Given the description of an element on the screen output the (x, y) to click on. 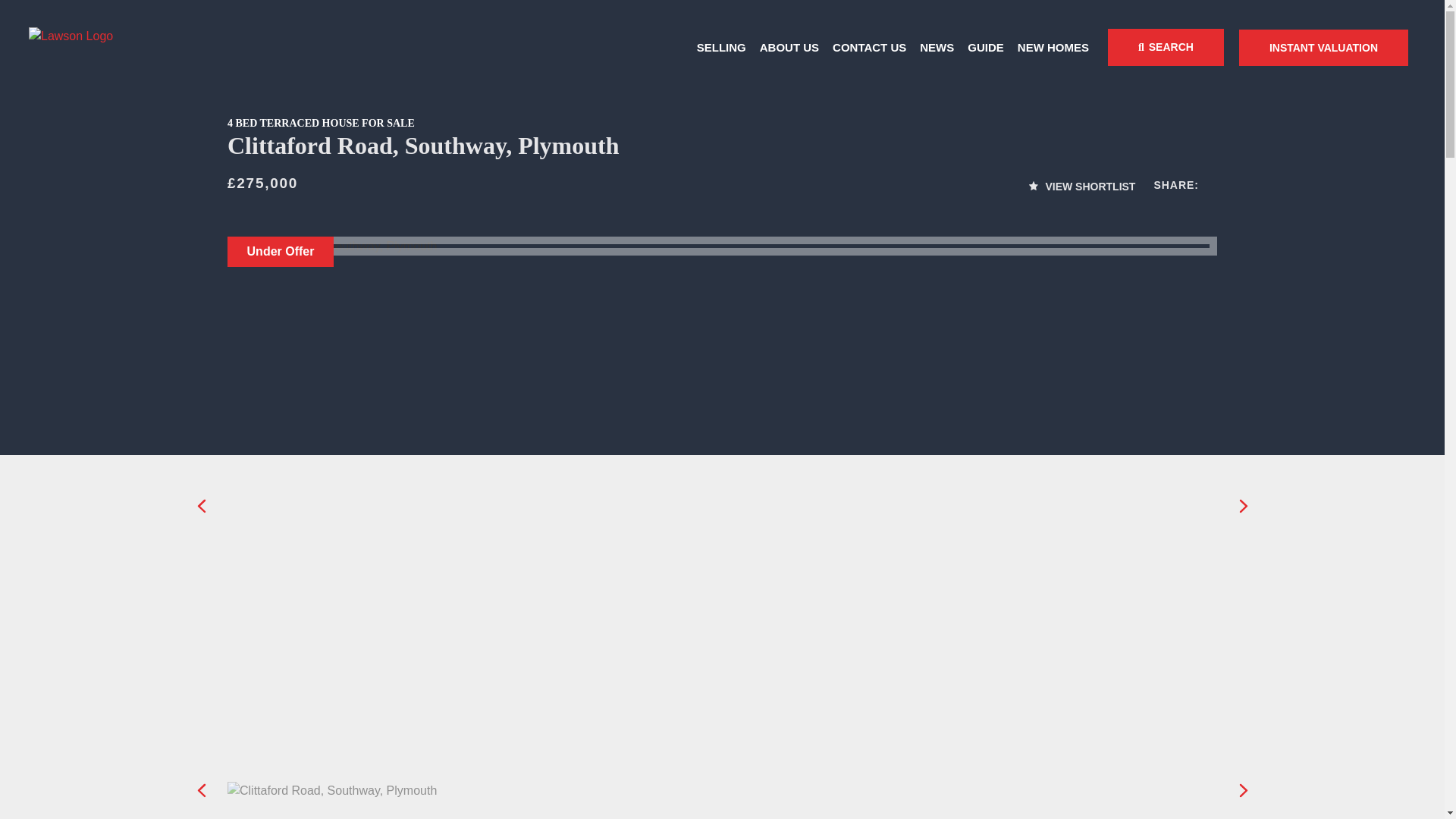
ABOUT US (788, 46)
INSTANT VALUATION (1323, 46)
NEW HOMES (1053, 46)
CONTACT US (869, 46)
NEWS (936, 46)
SEARCH (1166, 47)
VIEW SHORTLIST (1082, 186)
GUIDE (985, 46)
SELLING (721, 46)
